Given the description of an element on the screen output the (x, y) to click on. 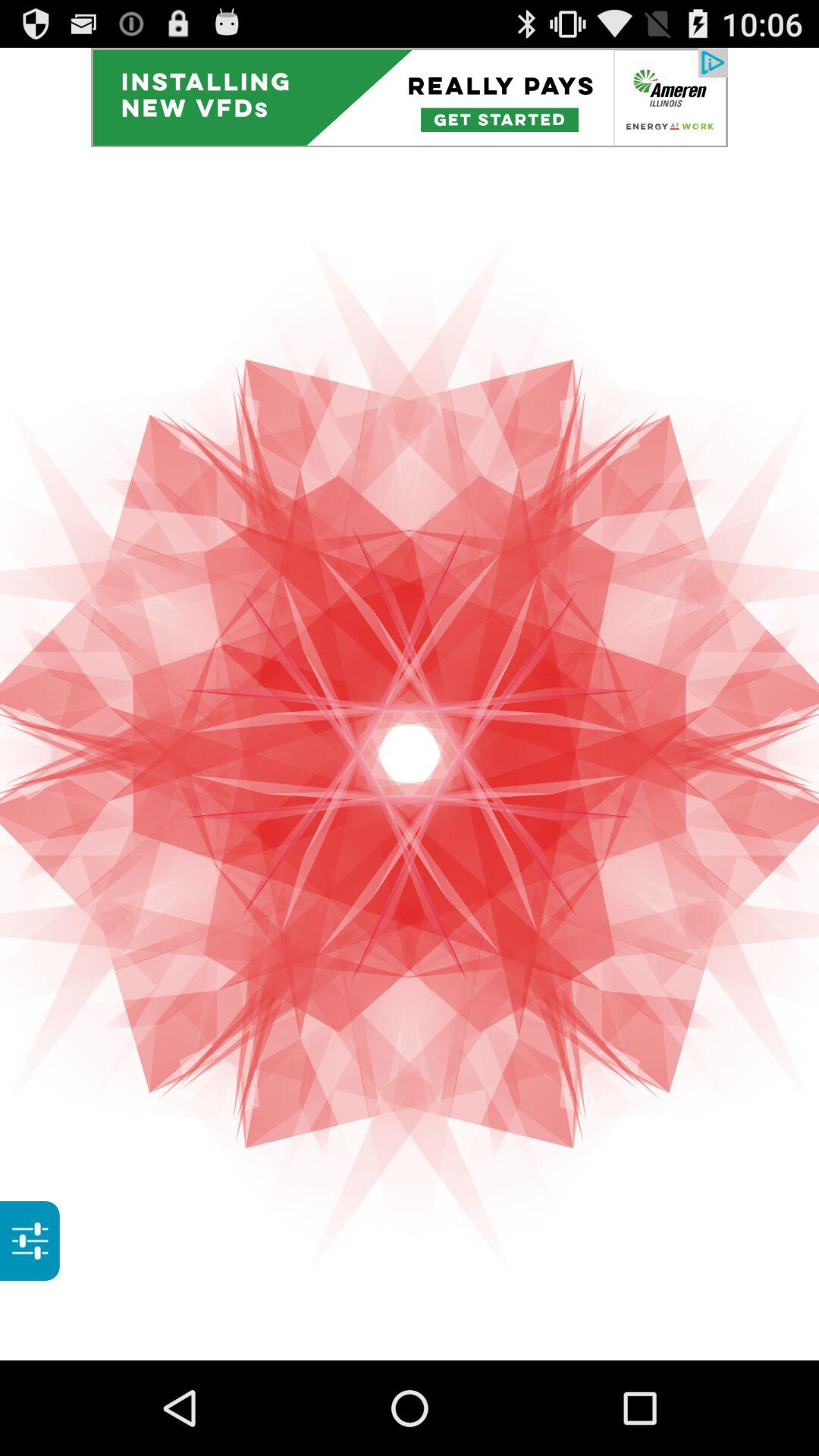
install the app (409, 97)
